Given the description of an element on the screen output the (x, y) to click on. 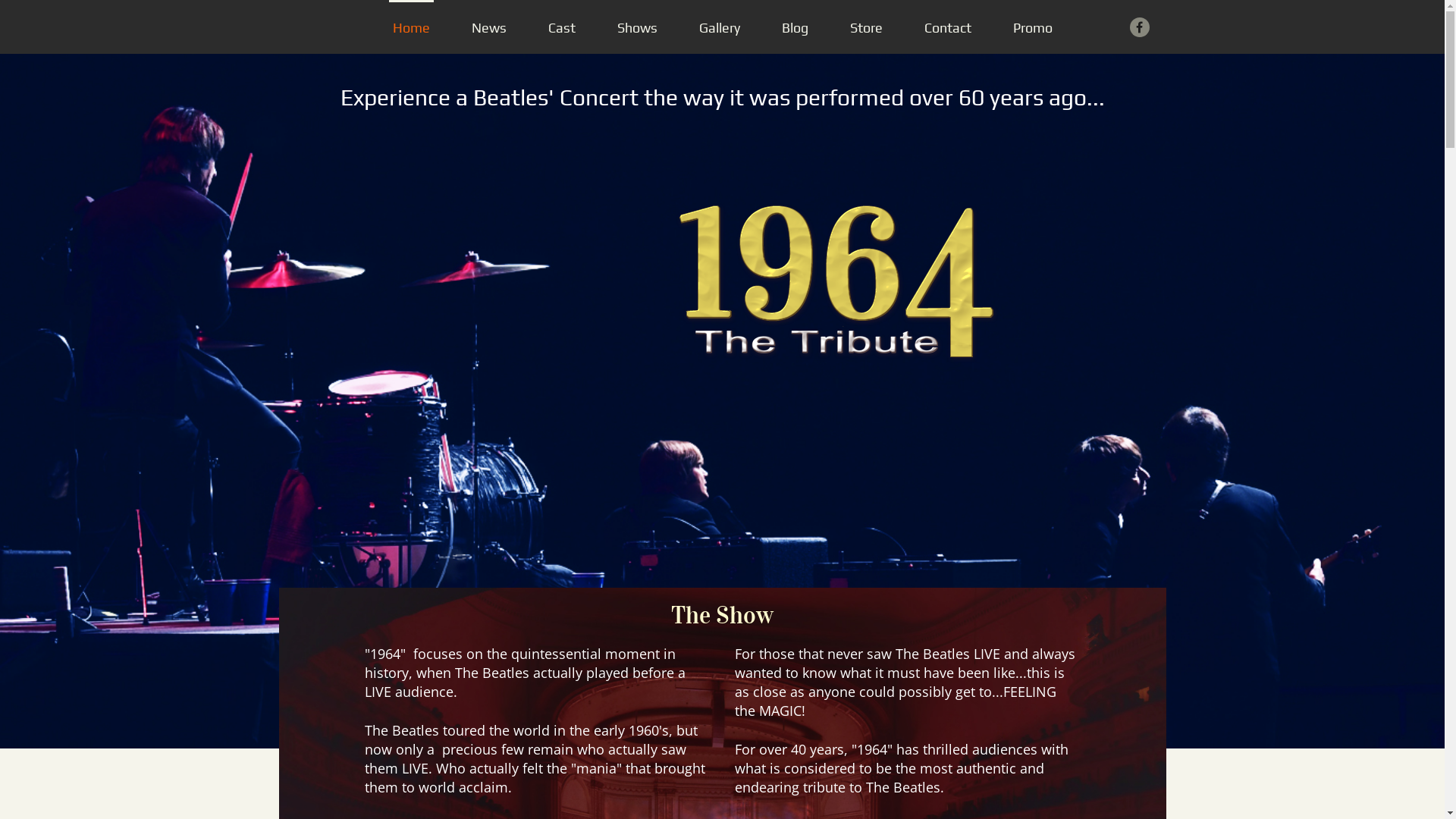
Contact Element type: text (947, 26)
Store Element type: text (866, 26)
Blog Element type: text (795, 26)
Promo Element type: text (1031, 26)
Gallery Element type: text (718, 26)
Home Element type: text (410, 26)
Shows Element type: text (636, 26)
News Element type: text (488, 26)
Cast Element type: text (561, 26)
